Given the description of an element on the screen output the (x, y) to click on. 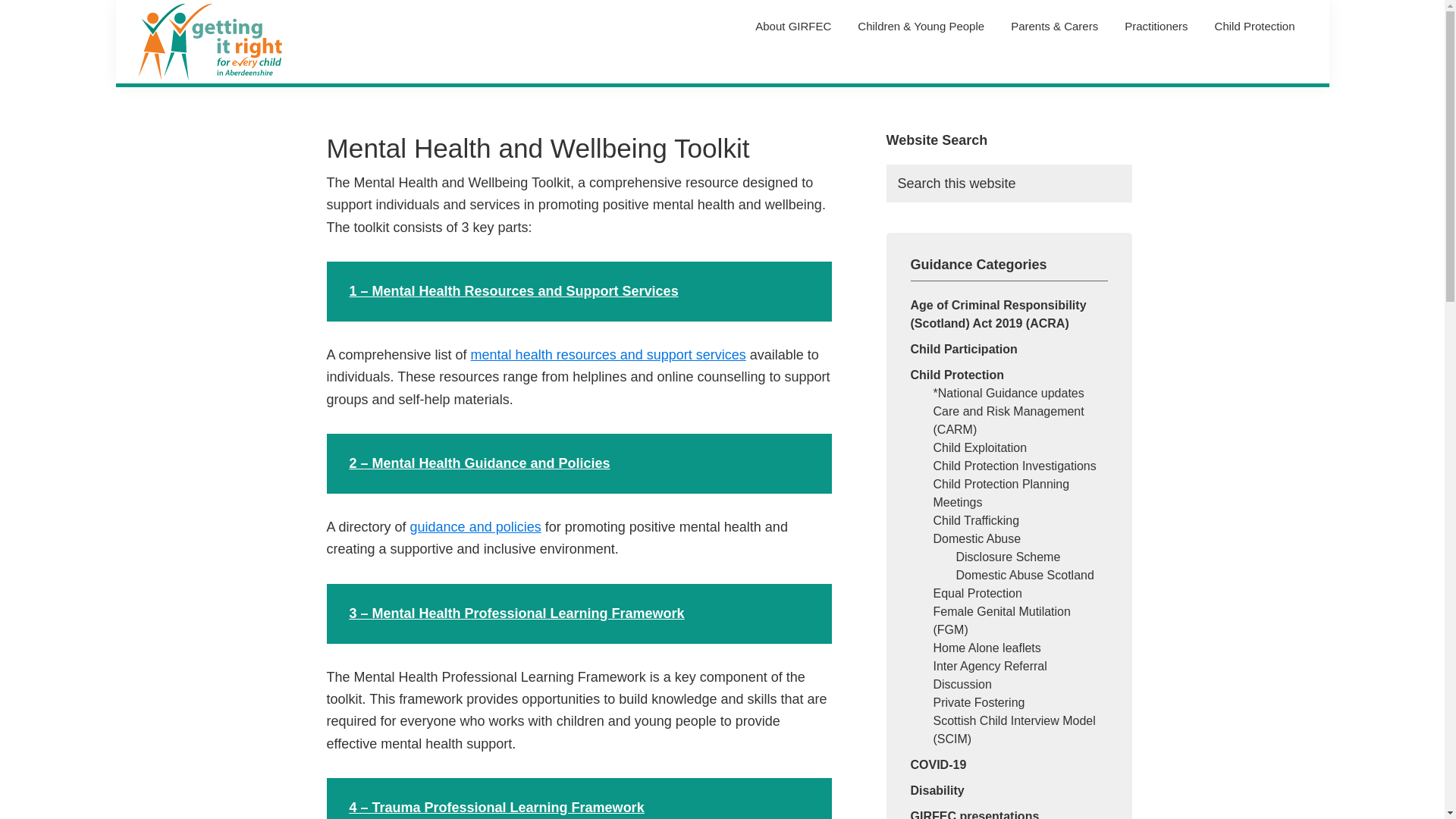
About GIRFEC (793, 25)
